Given the description of an element on the screen output the (x, y) to click on. 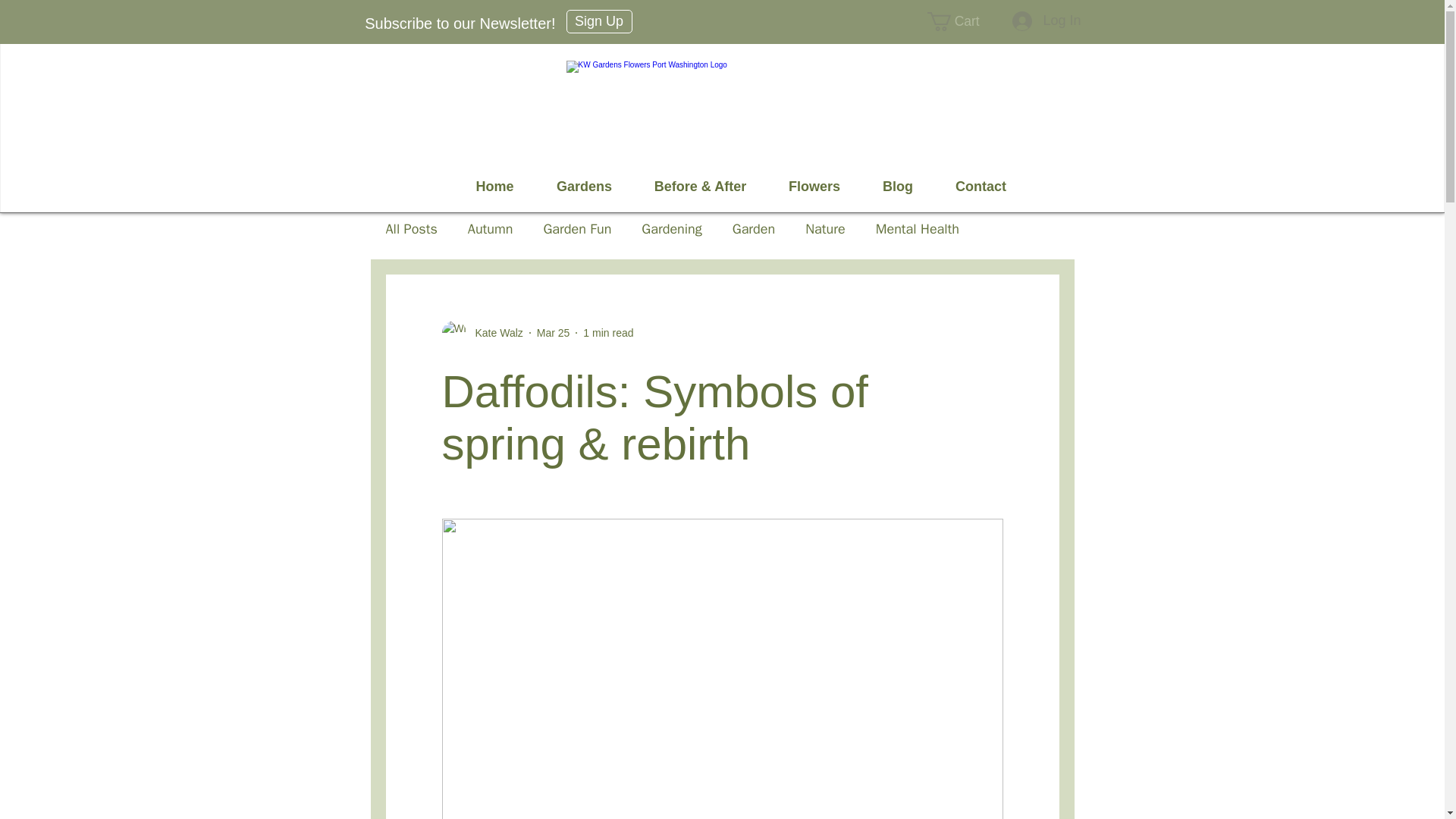
Sign Up (598, 21)
Contact (980, 186)
Cart (963, 21)
Garden (753, 229)
Garden Fun (577, 229)
All Posts (410, 229)
Log In (1045, 21)
Nature (824, 229)
Home (494, 186)
Kate Walz (481, 332)
